Given the description of an element on the screen output the (x, y) to click on. 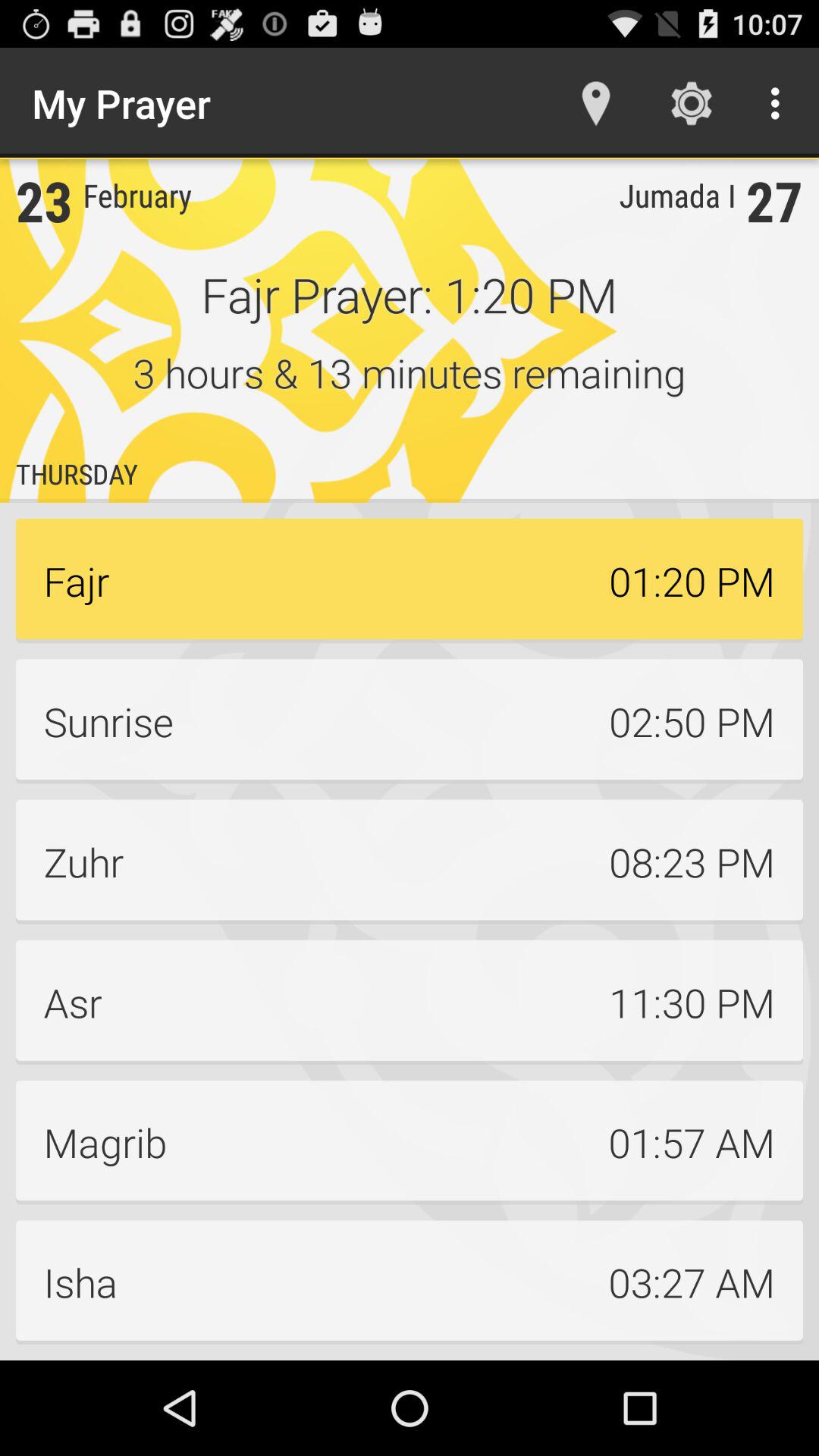
tap the icon to the right of the my prayer item (595, 103)
